Given the description of an element on the screen output the (x, y) to click on. 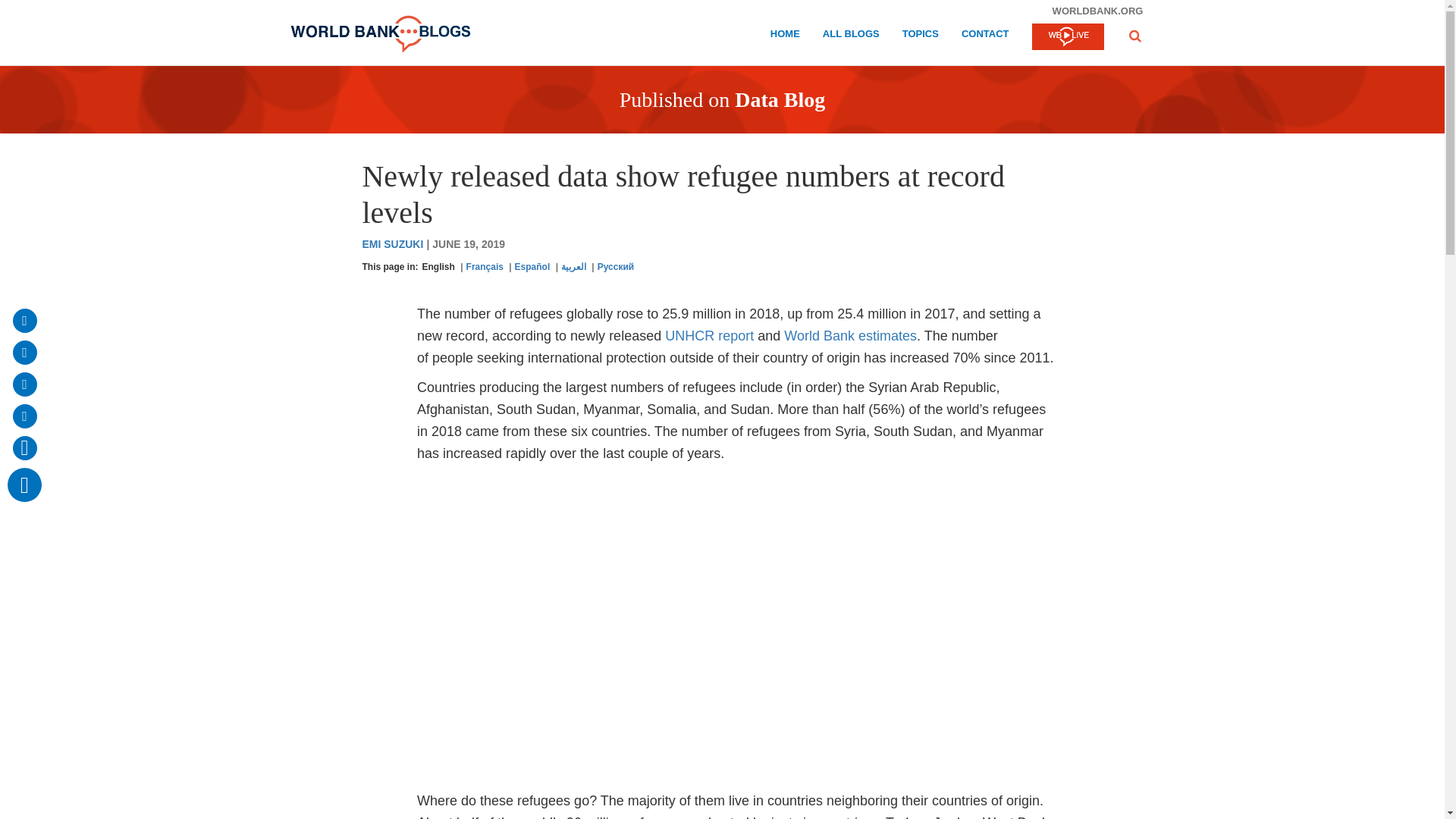
EMI SUZUKI (392, 244)
Facebook (23, 352)
WB LIVE LOGO (1066, 37)
UNHCR report (709, 335)
comment (24, 484)
ALL BLOGS (850, 37)
Tweet (23, 384)
HOME (784, 37)
World Bank estimates (850, 335)
